Given the description of an element on the screen output the (x, y) to click on. 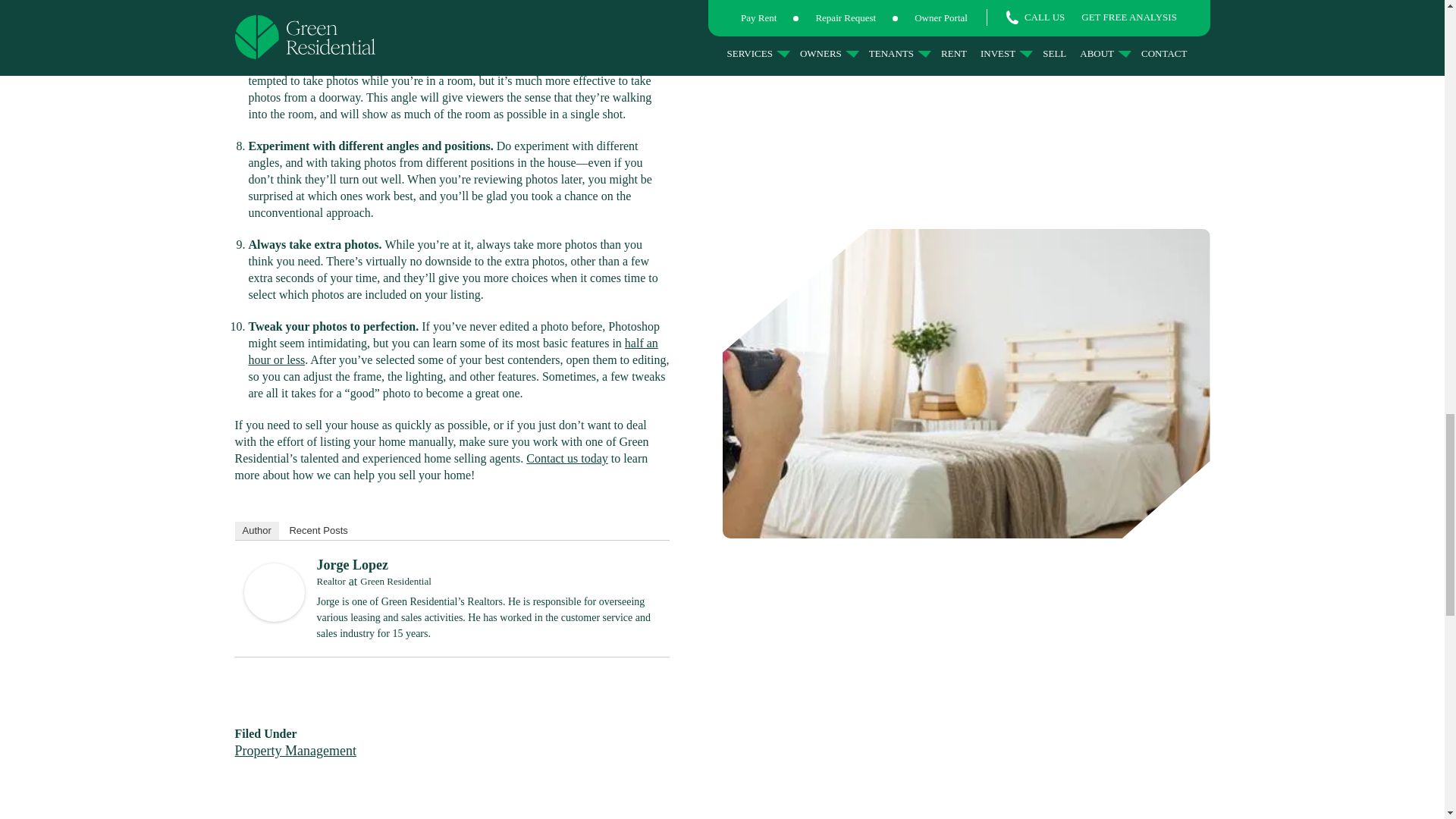
Jorge Lopez (274, 617)
